Given the description of an element on the screen output the (x, y) to click on. 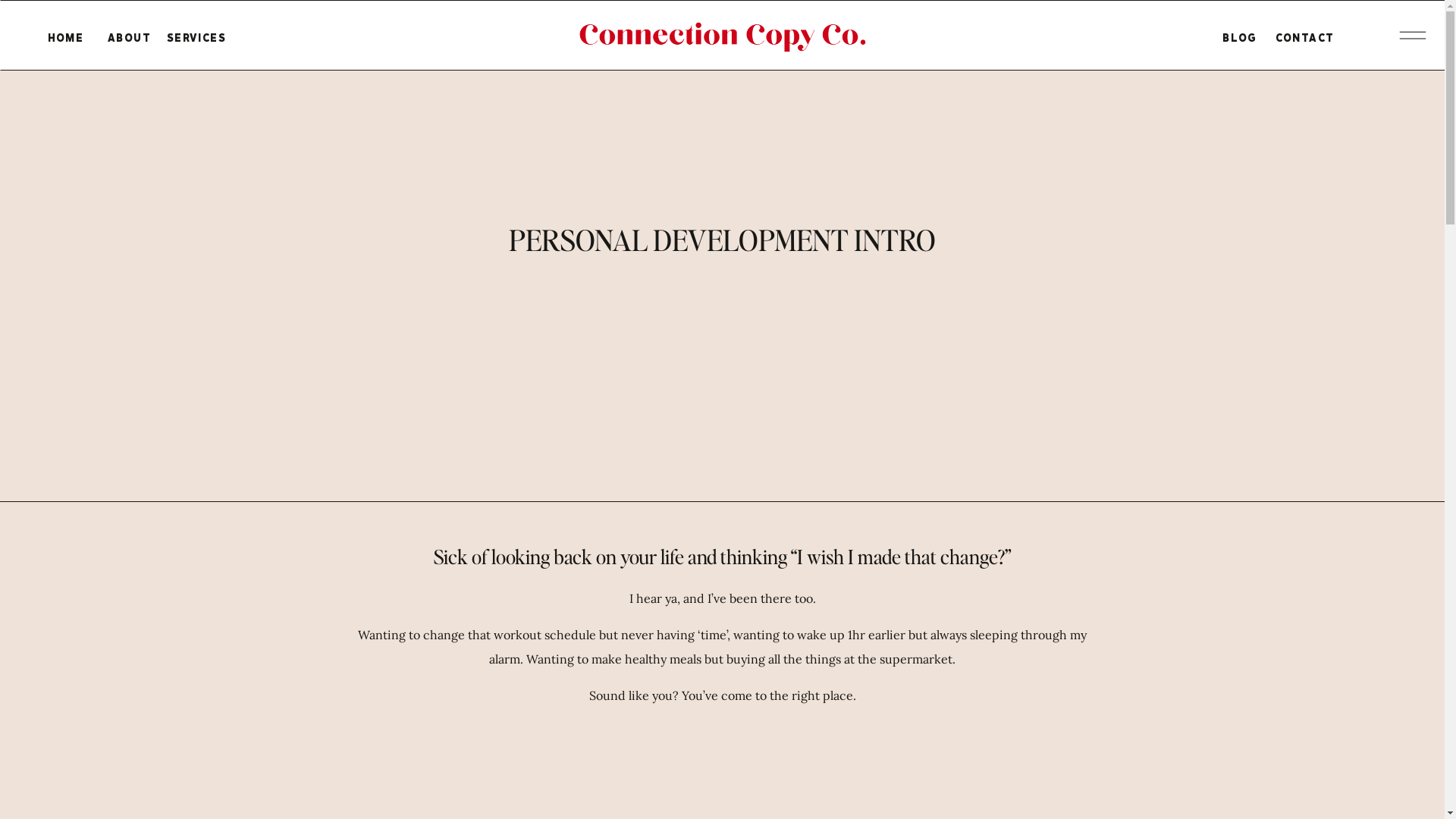
CONTACT Element type: text (1304, 43)
HOME Element type: text (65, 43)
BLOG Element type: text (1239, 43)
ABOUT Element type: text (128, 43)
SERVICES Element type: text (196, 43)
